Given the description of an element on the screen output the (x, y) to click on. 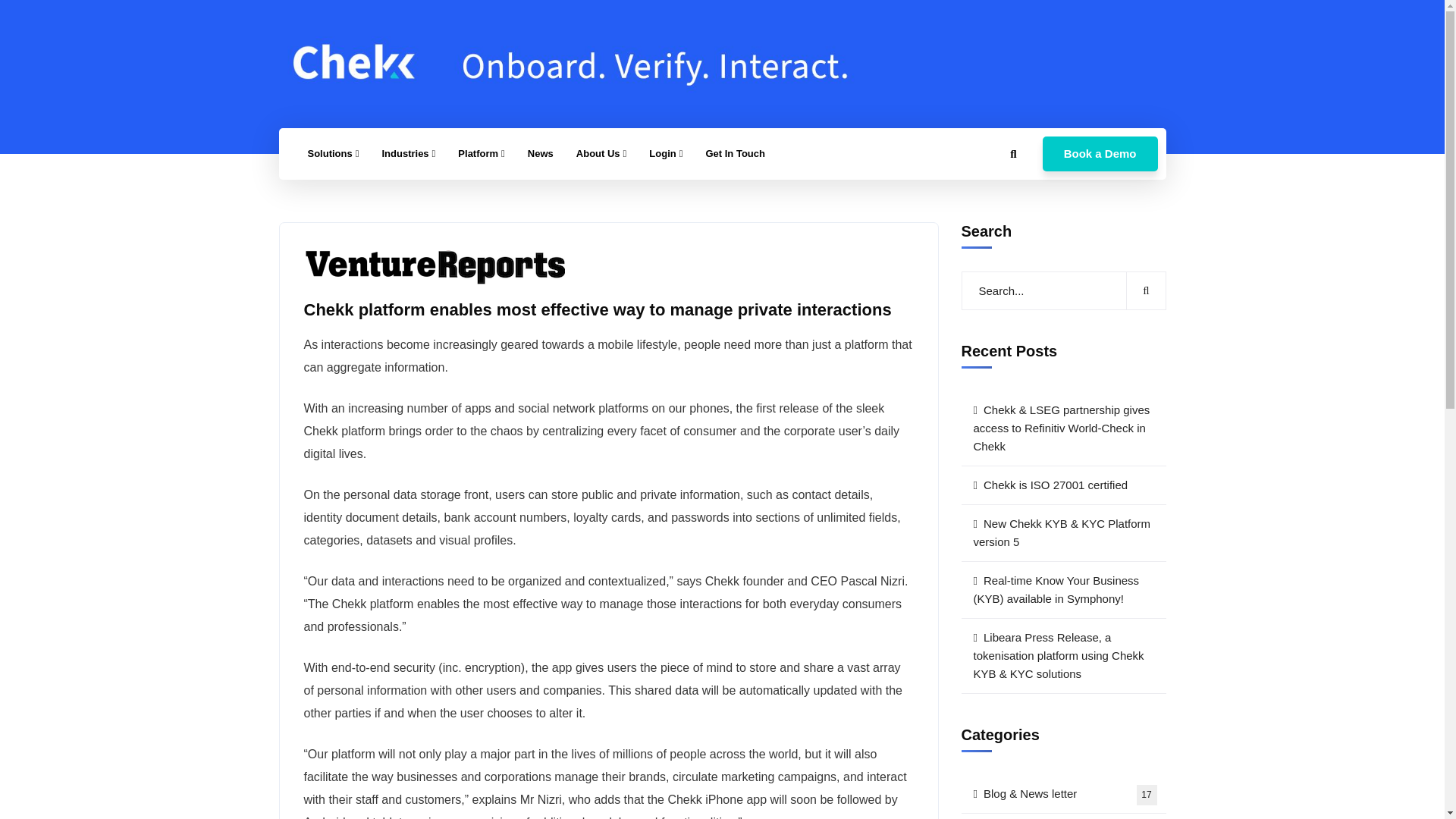
About Us (601, 153)
Chekk (574, 63)
Industries (407, 153)
News (540, 153)
Solutions (332, 153)
Platform (480, 153)
